Given the description of an element on the screen output the (x, y) to click on. 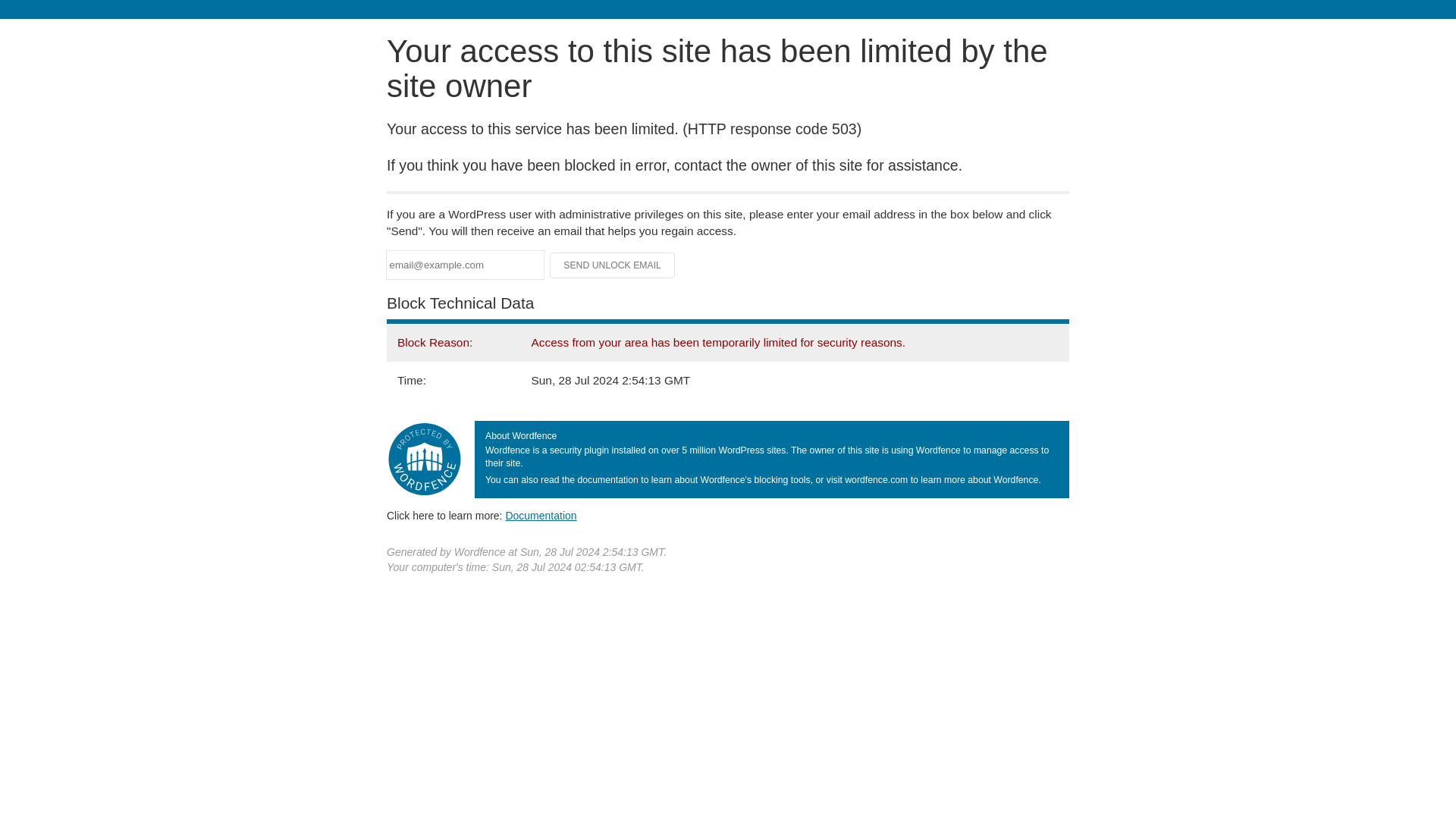
Send Unlock Email (612, 265)
Documentation (540, 515)
Send Unlock Email (612, 265)
